Given the description of an element on the screen output the (x, y) to click on. 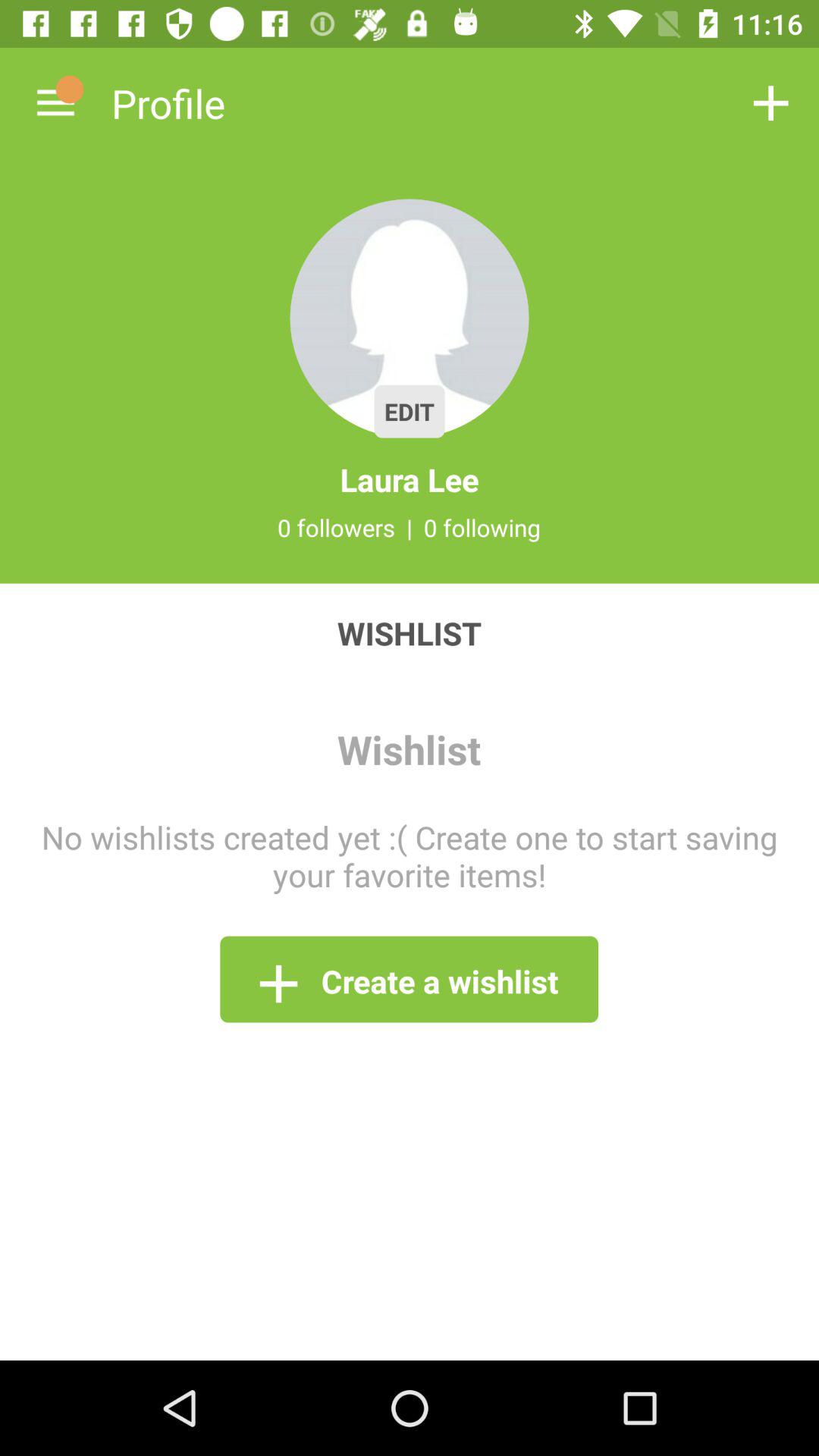
turn off 0 following item (481, 527)
